Given the description of an element on the screen output the (x, y) to click on. 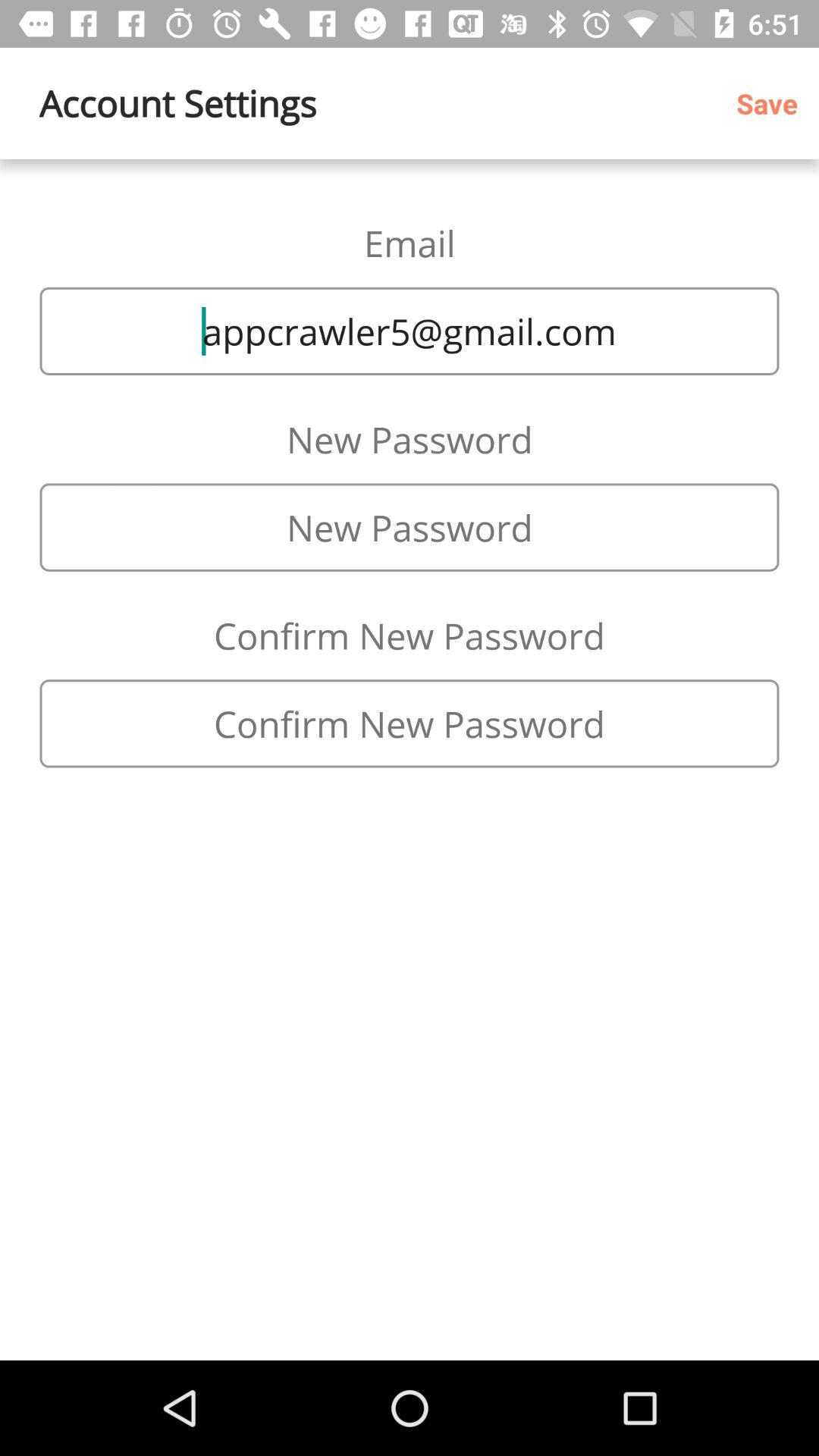
tap item above the new password icon (409, 331)
